Given the description of an element on the screen output the (x, y) to click on. 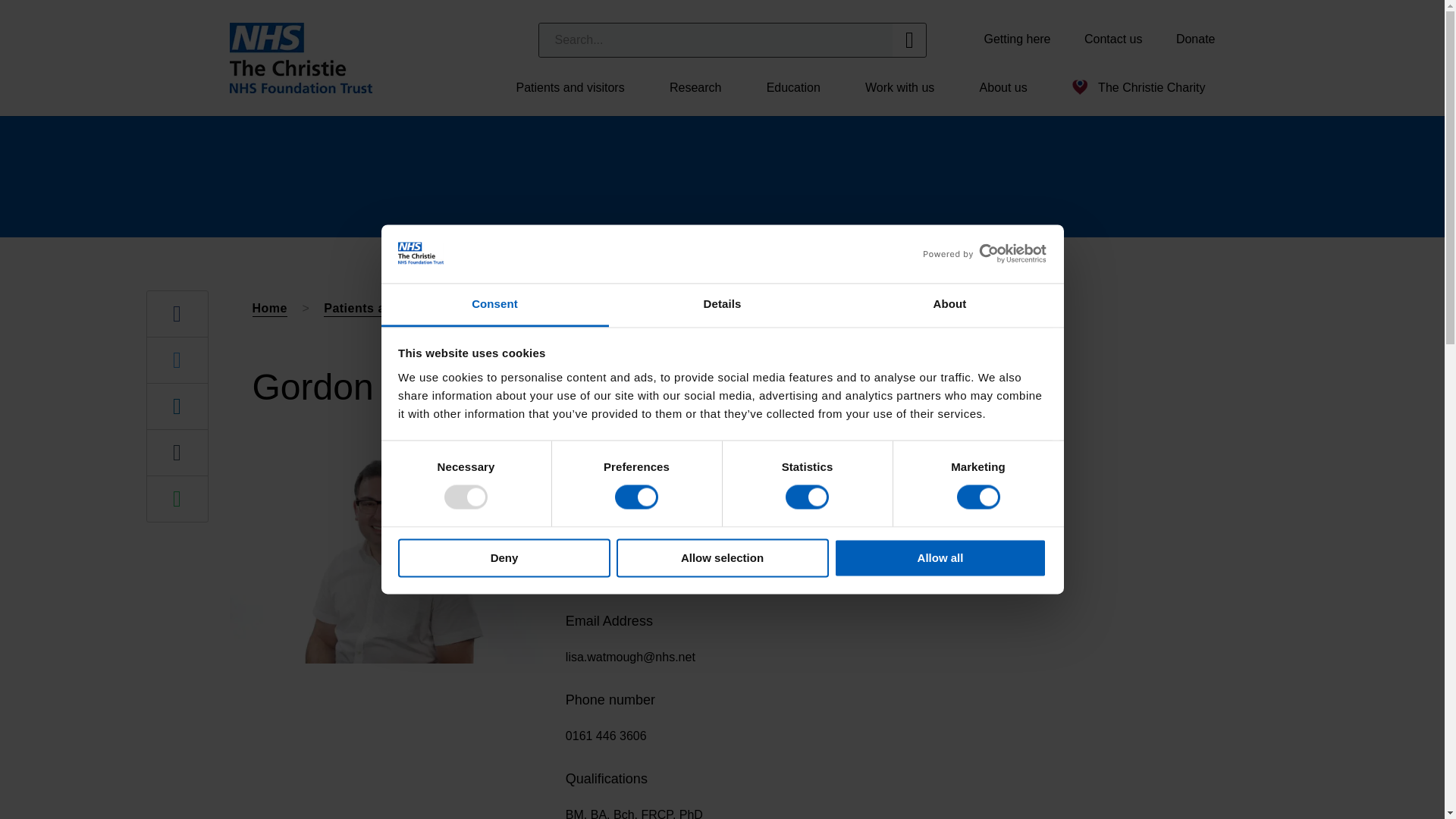
Allow selection (721, 557)
Consent (494, 304)
Details (721, 304)
Deny (503, 557)
About (948, 304)
